Given the description of an element on the screen output the (x, y) to click on. 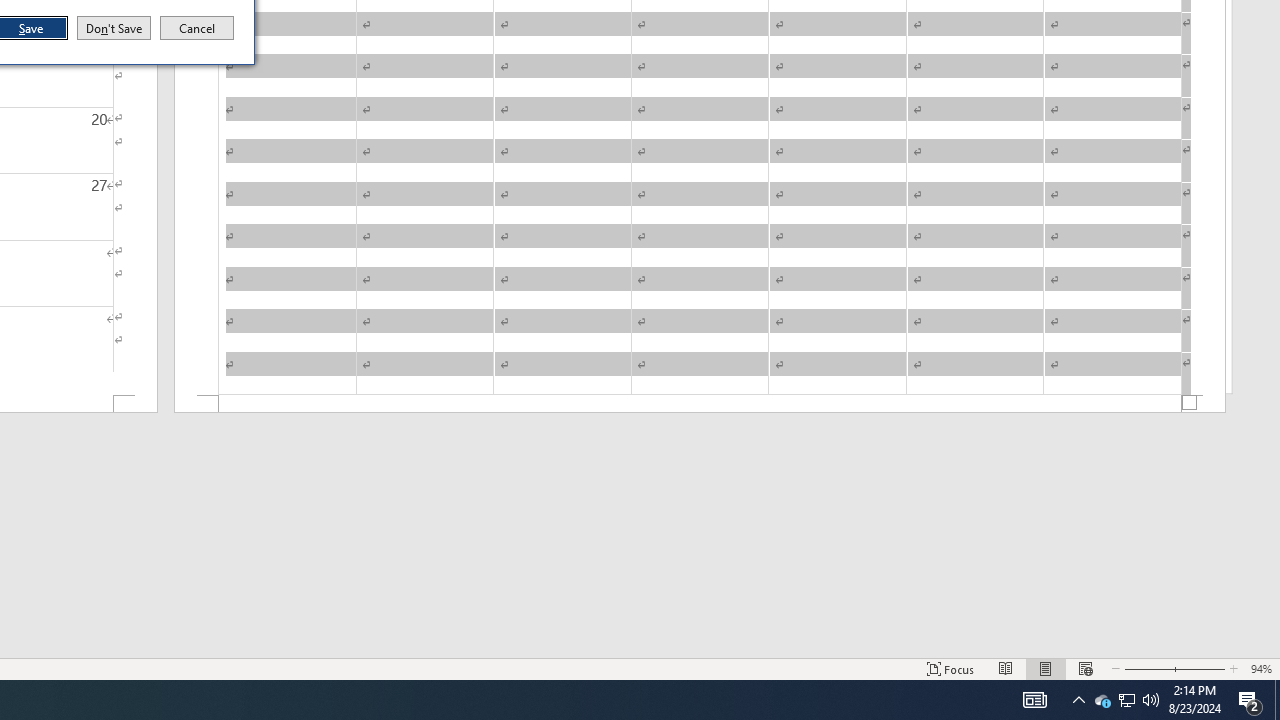
Zoom In (1199, 668)
Notification Chevron (1078, 699)
Footer -Section 1- (700, 404)
Cancel (197, 27)
Don't Save (113, 27)
Action Center, 2 new notifications (1250, 699)
Q2790: 100% (1151, 699)
Web Layout (1085, 668)
Focus  (1102, 699)
Print Layout (1126, 699)
